Given the description of an element on the screen output the (x, y) to click on. 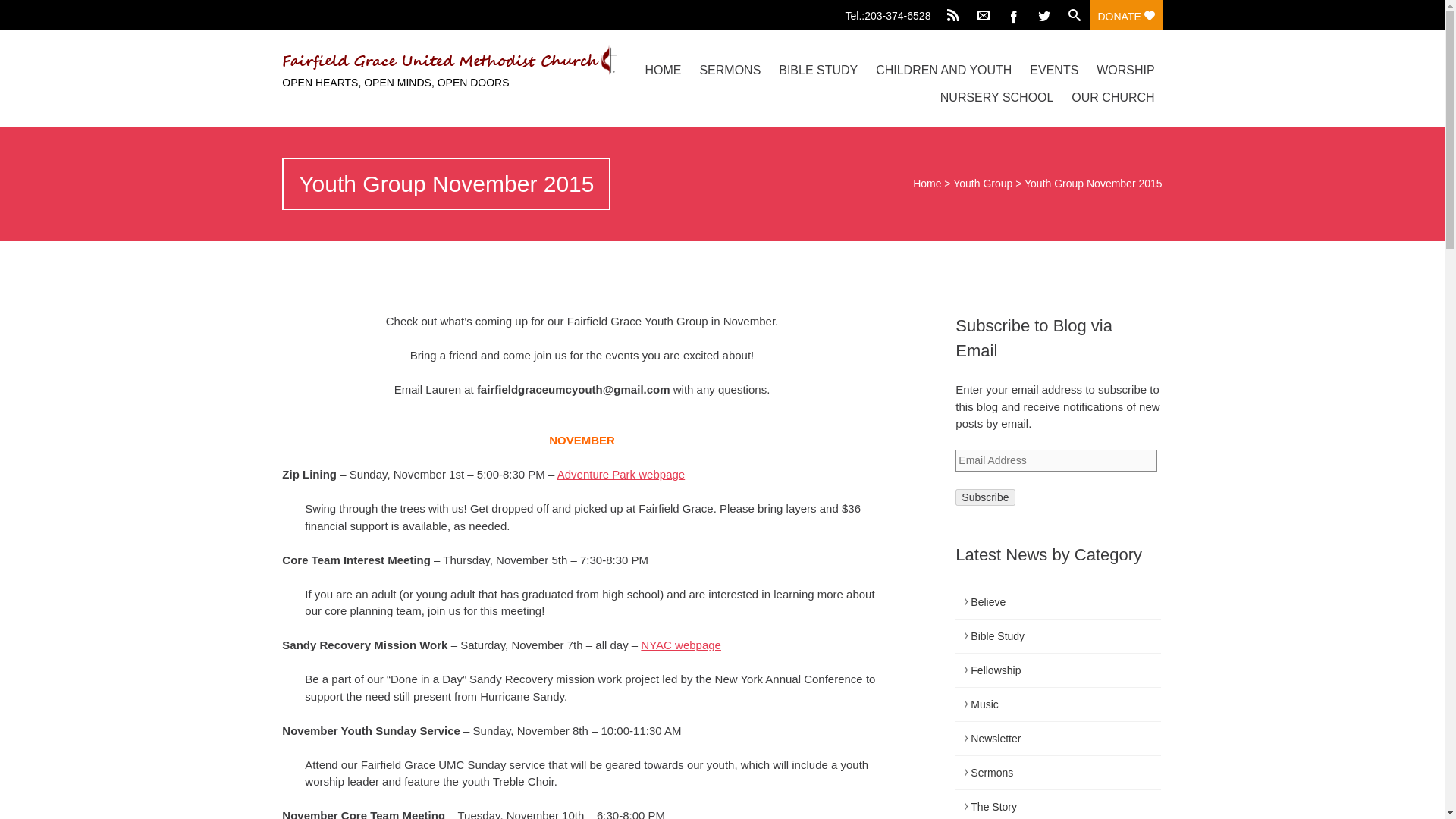
CHILDREN AND YOUTH (943, 70)
Adventure Park webpage (620, 473)
Facebook (1013, 15)
Youth Group (982, 183)
OUR CHURCH (1112, 97)
Home (926, 183)
Fairfield Grace - Open Hearts, Open Minds, Open Doors (413, 60)
Search (20, 11)
Twitter (1044, 15)
HOME (662, 70)
SERMONS (729, 70)
EVENTS (1054, 70)
DONATE (1125, 15)
Tel.:203-374-6528 (892, 12)
Subscribe (984, 496)
